Given the description of an element on the screen output the (x, y) to click on. 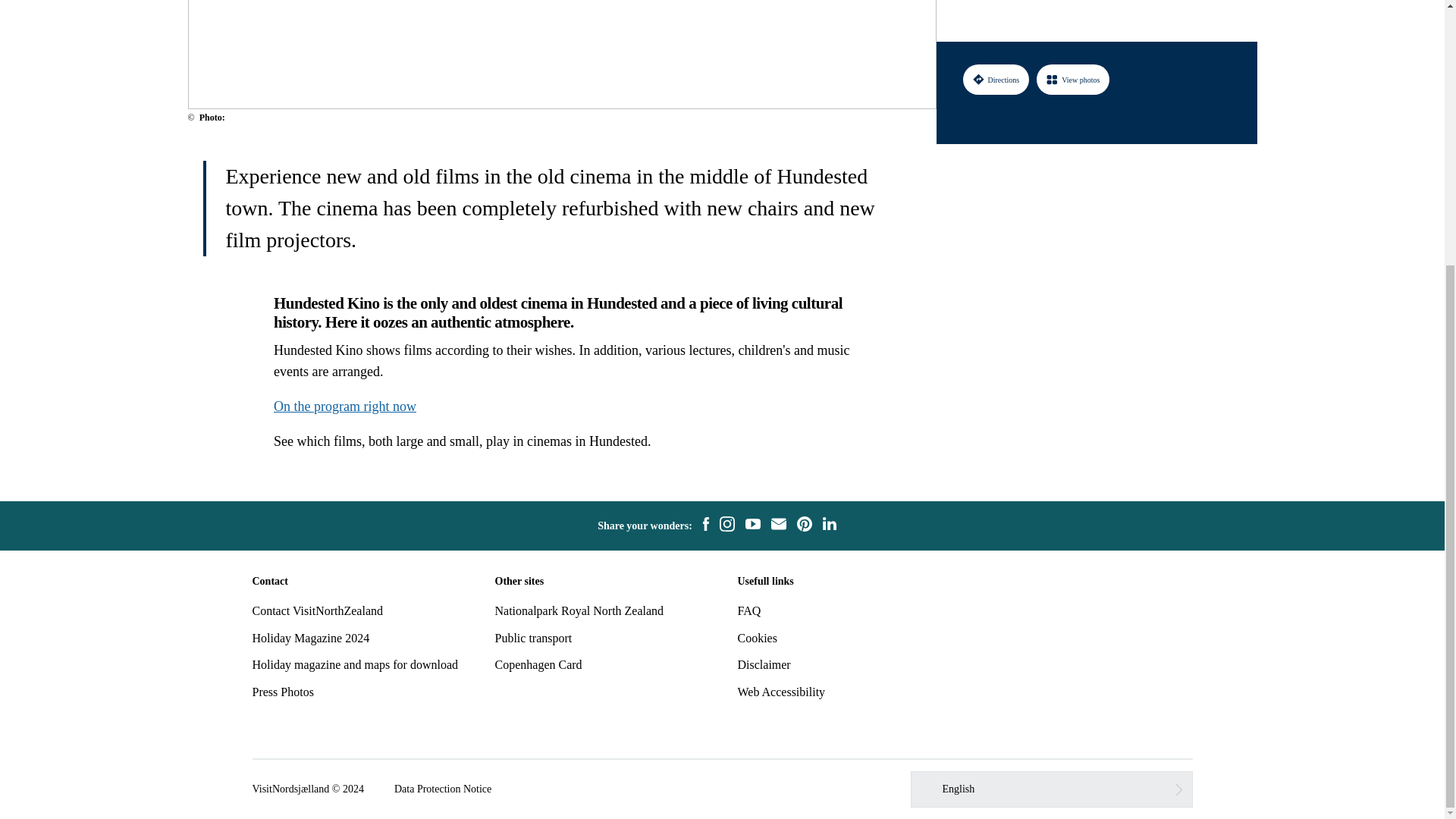
Holiday magazine and maps for download (354, 664)
Web Accessibility (780, 691)
pinterest (804, 526)
instagram (726, 526)
facebook (705, 525)
Cookies (756, 637)
Holiday magazine and maps for download (354, 664)
Nationalpark Royal North Zealand (579, 610)
Disclaimer (763, 664)
Public transport (533, 637)
Cookies (756, 637)
Public transport (533, 637)
Contact VisitNorthZealand (316, 610)
youtube (752, 525)
On the program right now (344, 406)
